Given the description of an element on the screen output the (x, y) to click on. 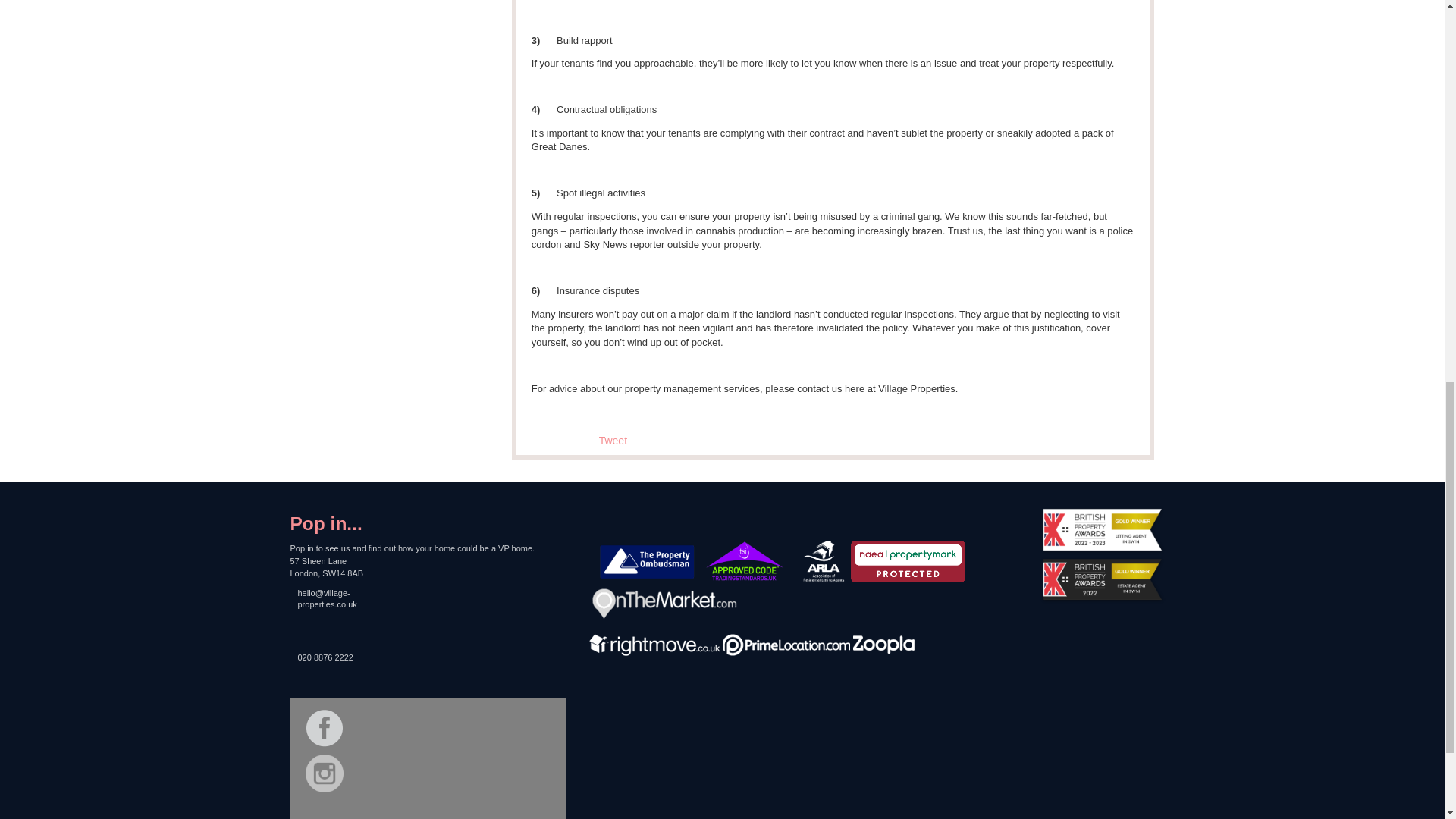
Tweet (612, 440)
020 8876 2222 (342, 670)
